Given the description of an element on the screen output the (x, y) to click on. 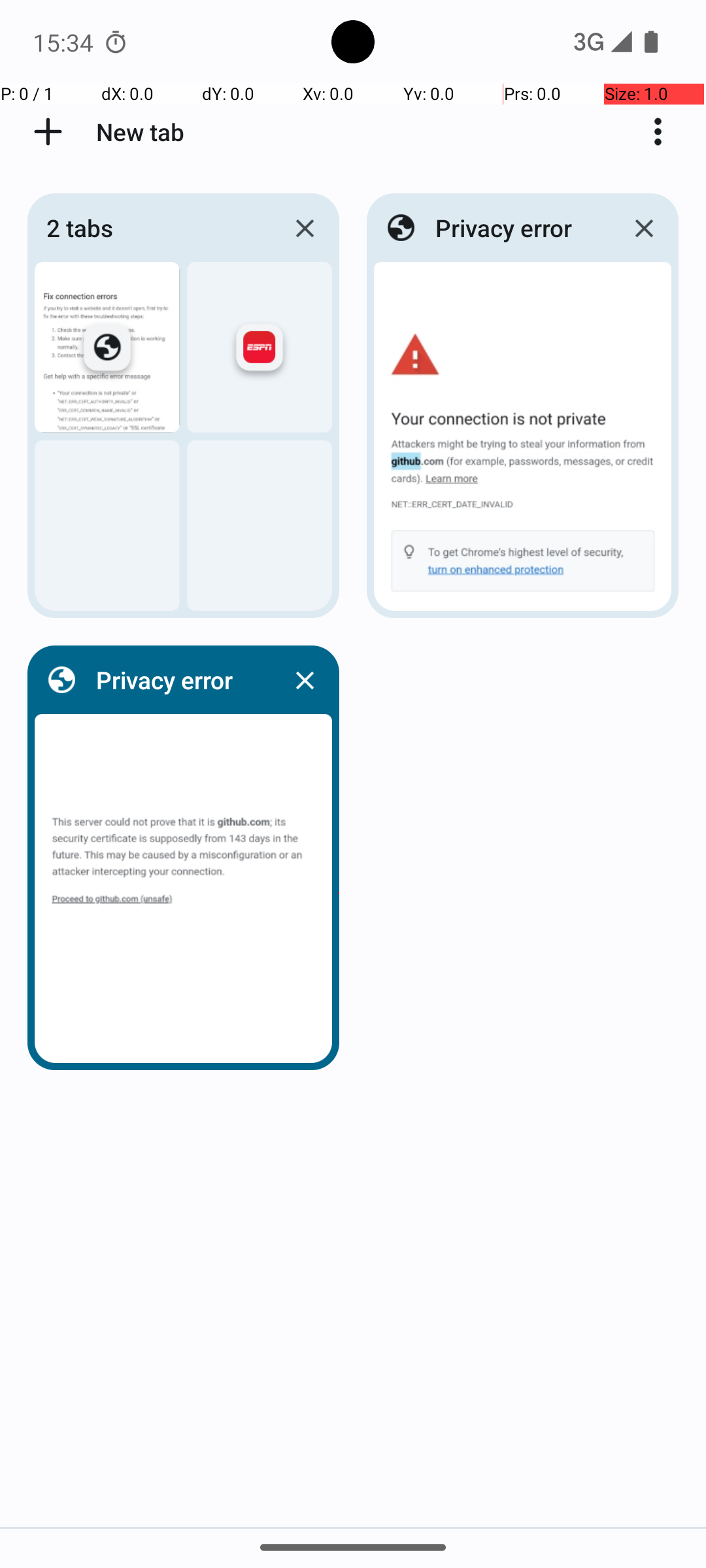
Expand tab group with 2 tabs. Element type: android.widget.FrameLayout (183, 405)
2 tabs Element type: android.widget.TextView (154, 227)
Close 2 tabs tab Element type: android.widget.ImageView (304, 227)
Close Privacy error tab Element type: android.widget.ImageView (643, 227)
